Given the description of an element on the screen output the (x, y) to click on. 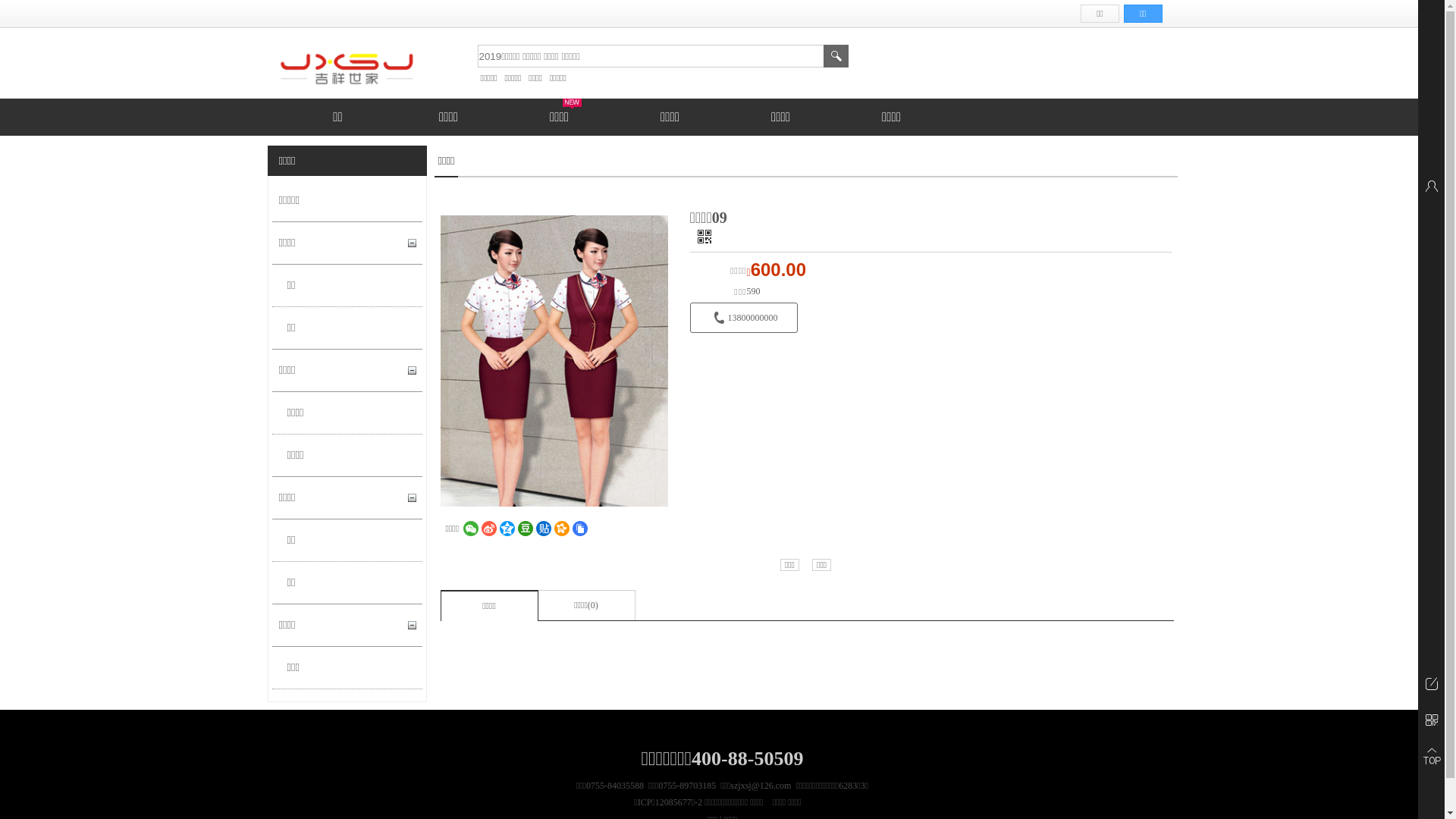
13800000000 Element type: text (743, 317)
